Given the description of an element on the screen output the (x, y) to click on. 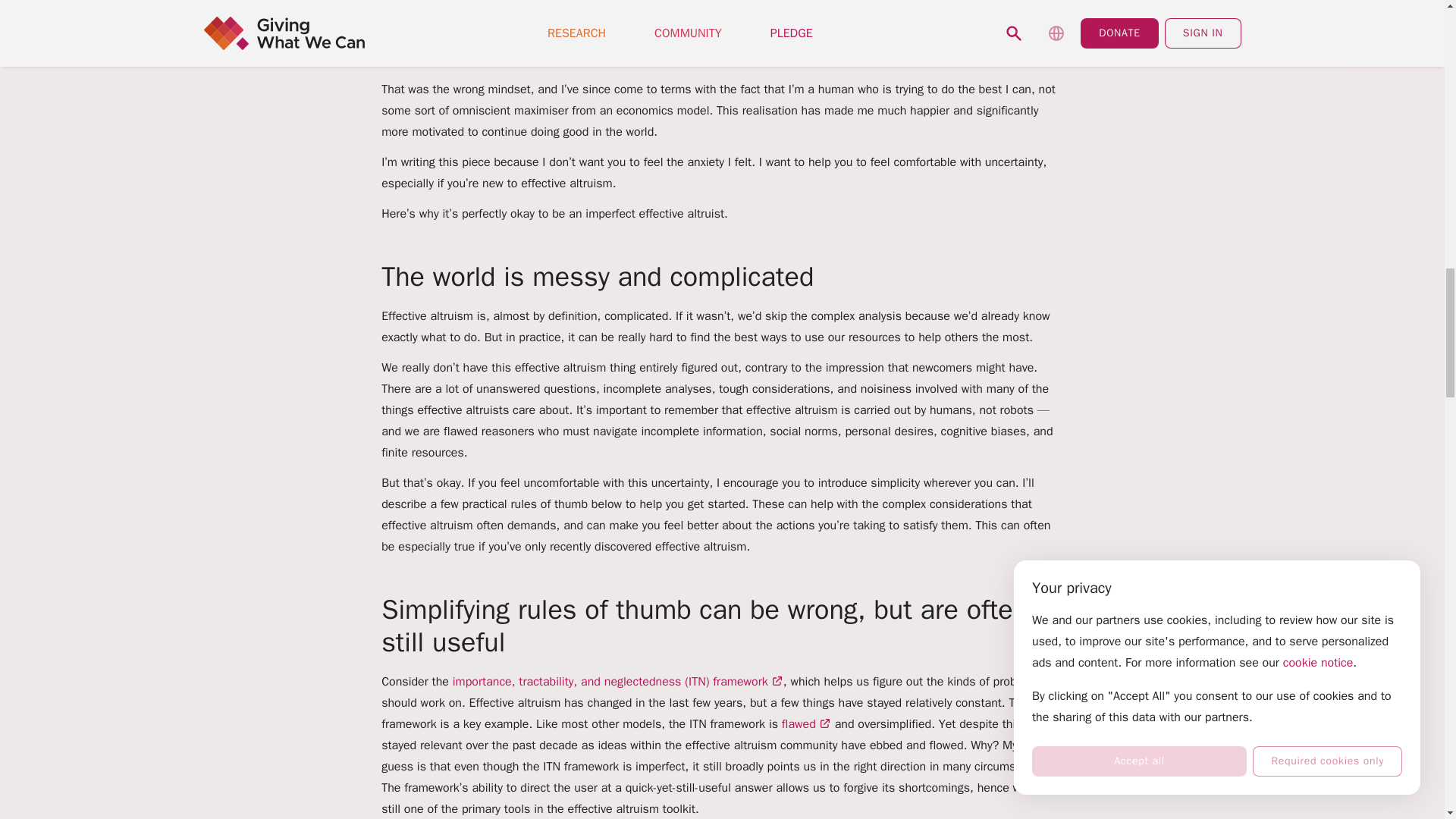
flawed (806, 724)
